Given the description of an element on the screen output the (x, y) to click on. 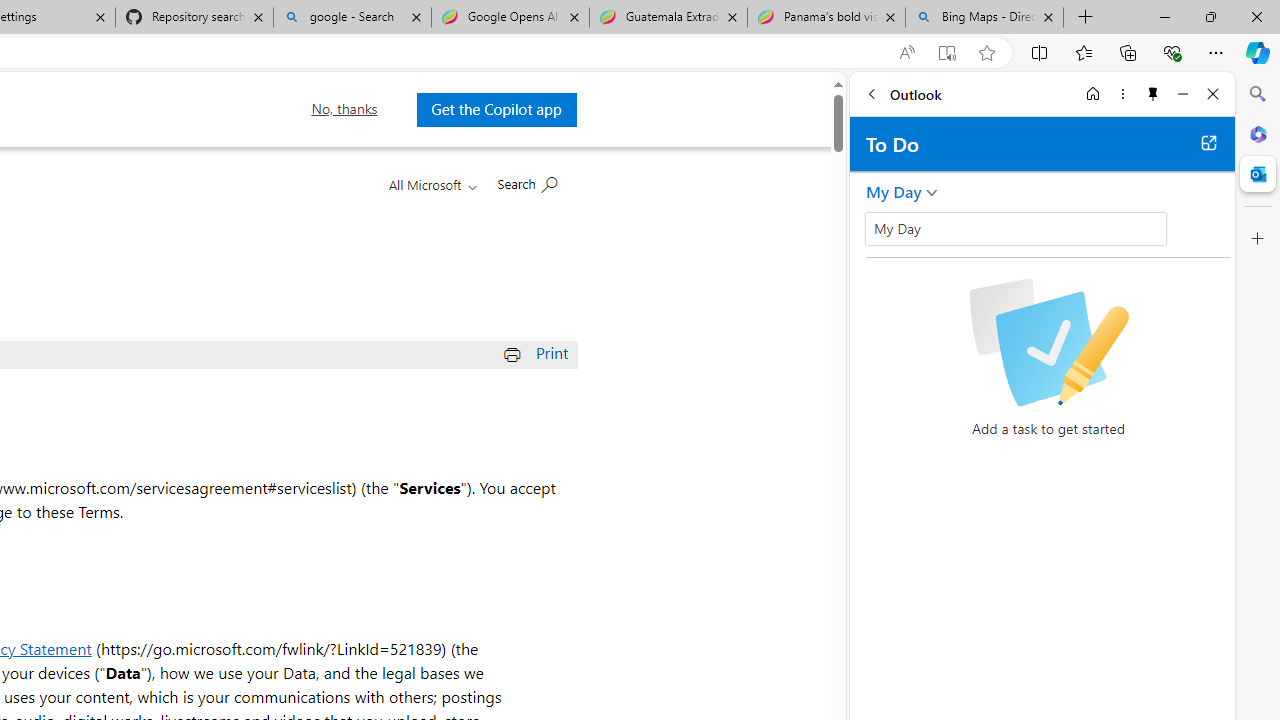
Get the Copilot app  (496, 109)
My Day (893, 191)
Print (538, 352)
Search Microsoft.com (527, 182)
